Given the description of an element on the screen output the (x, y) to click on. 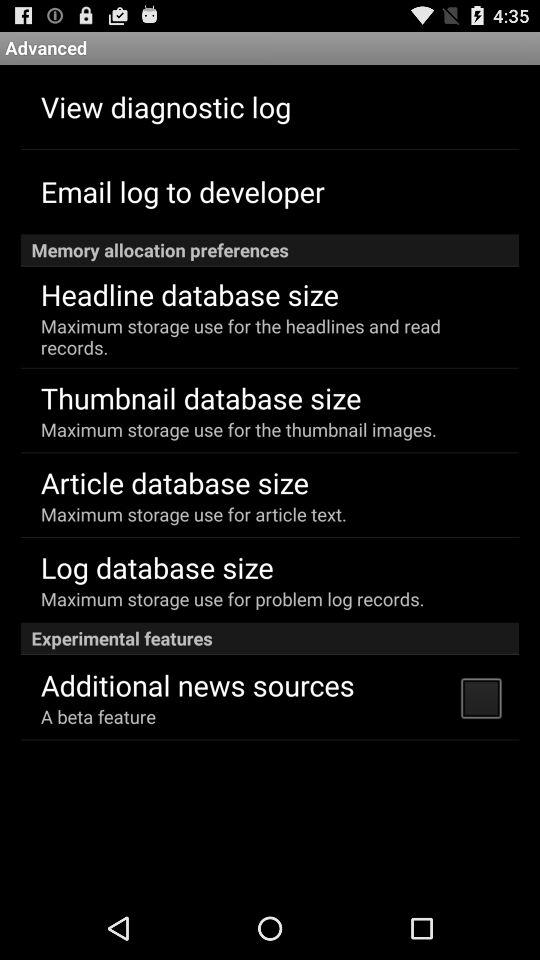
scroll until the email log to app (182, 190)
